Given the description of an element on the screen output the (x, y) to click on. 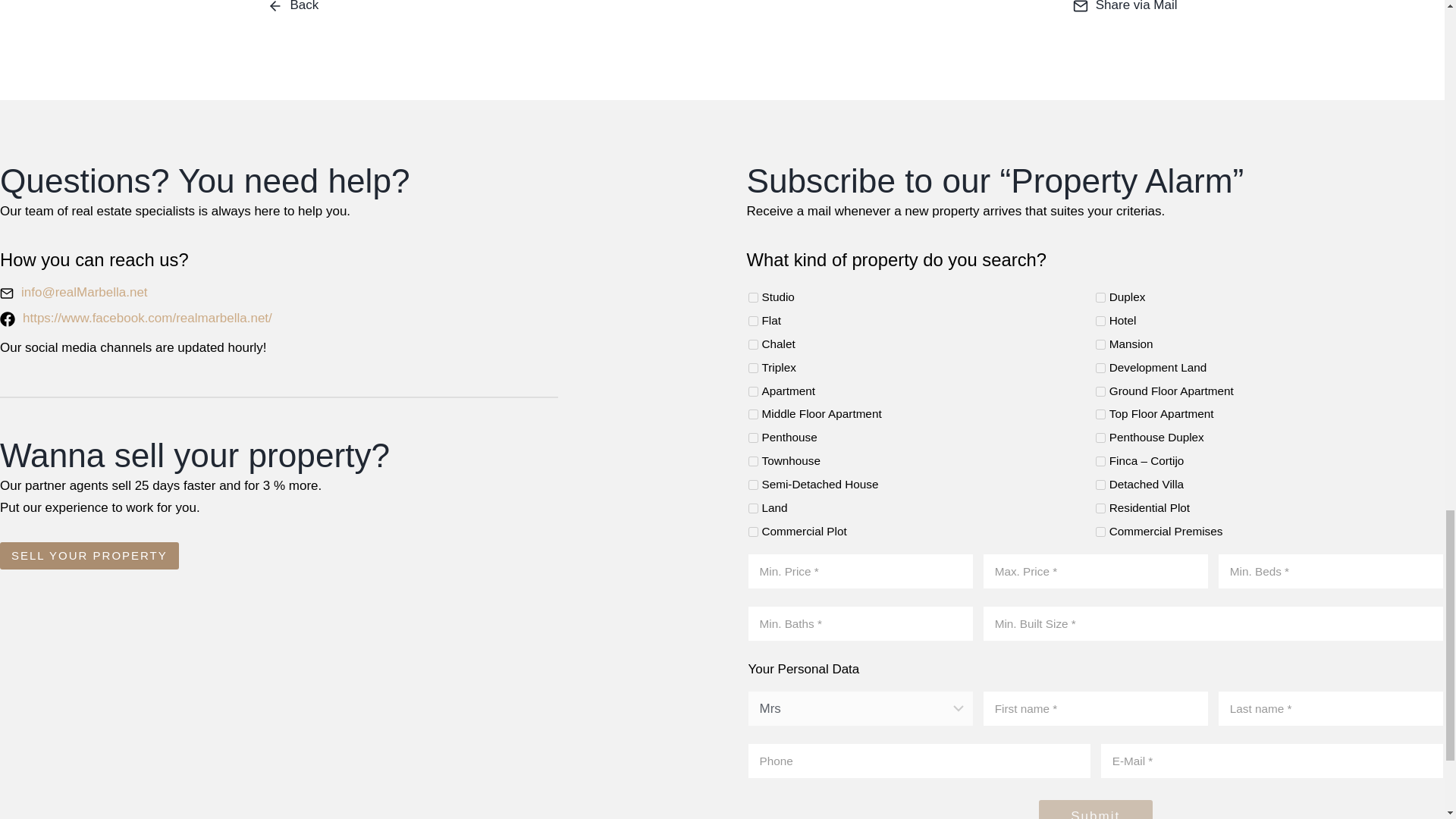
2076 (1100, 344)
733 (752, 484)
2074 (752, 344)
797 (1100, 414)
1981 (1100, 297)
734 (752, 461)
1969 (752, 297)
730 (1100, 484)
709 (752, 438)
685 (752, 391)
